Given the description of an element on the screen output the (x, y) to click on. 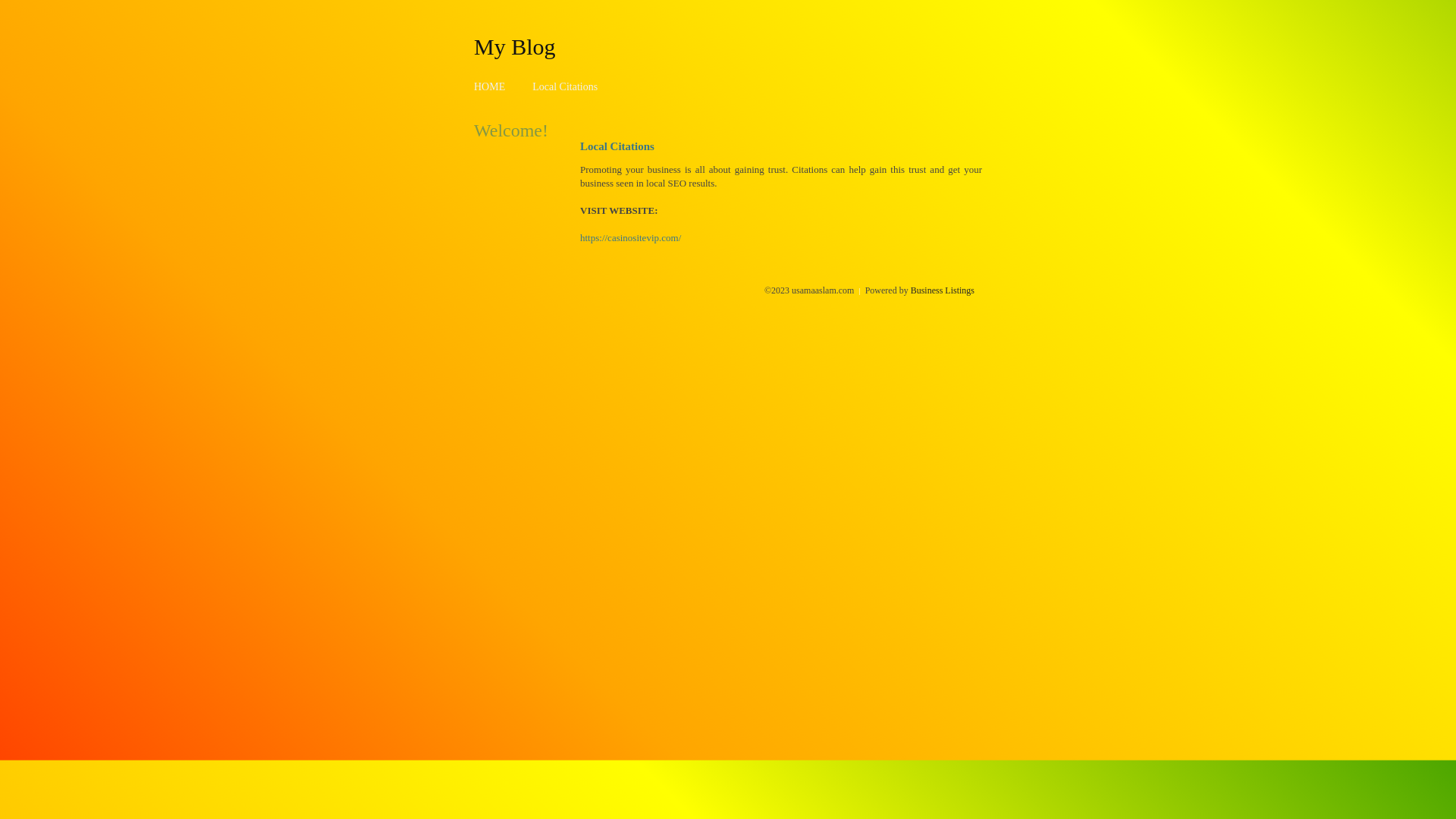
Local Citations Element type: text (564, 86)
https://casinositevip.com/ Element type: text (630, 237)
Business Listings Element type: text (942, 290)
HOME Element type: text (489, 86)
My Blog Element type: text (514, 46)
